Given the description of an element on the screen output the (x, y) to click on. 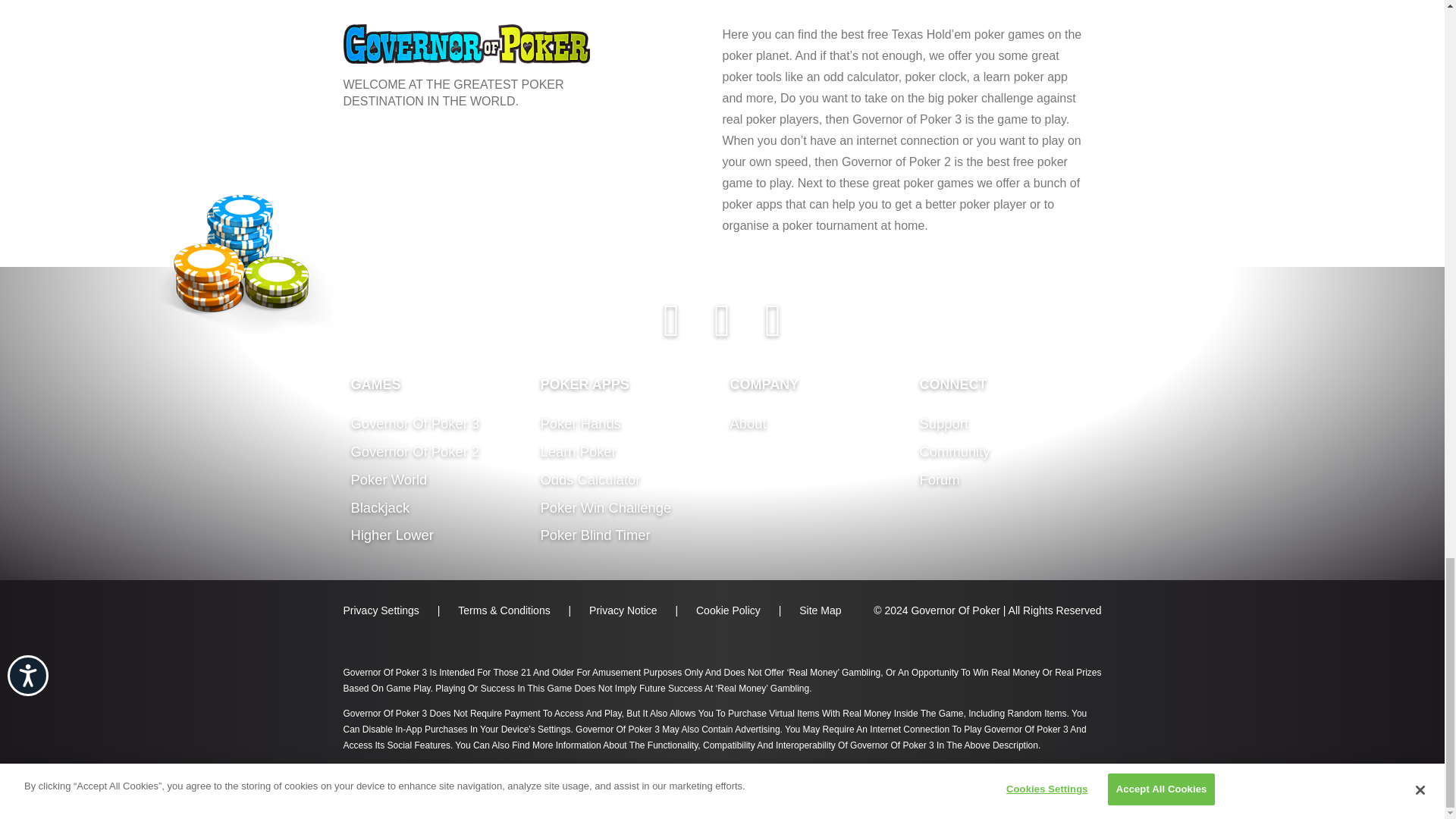
Poker World (388, 479)
Governor Of Poker 3 (414, 423)
Governor Of Poker 2 (414, 451)
Blackjack (379, 507)
Higher Lower (391, 534)
